Given the description of an element on the screen output the (x, y) to click on. 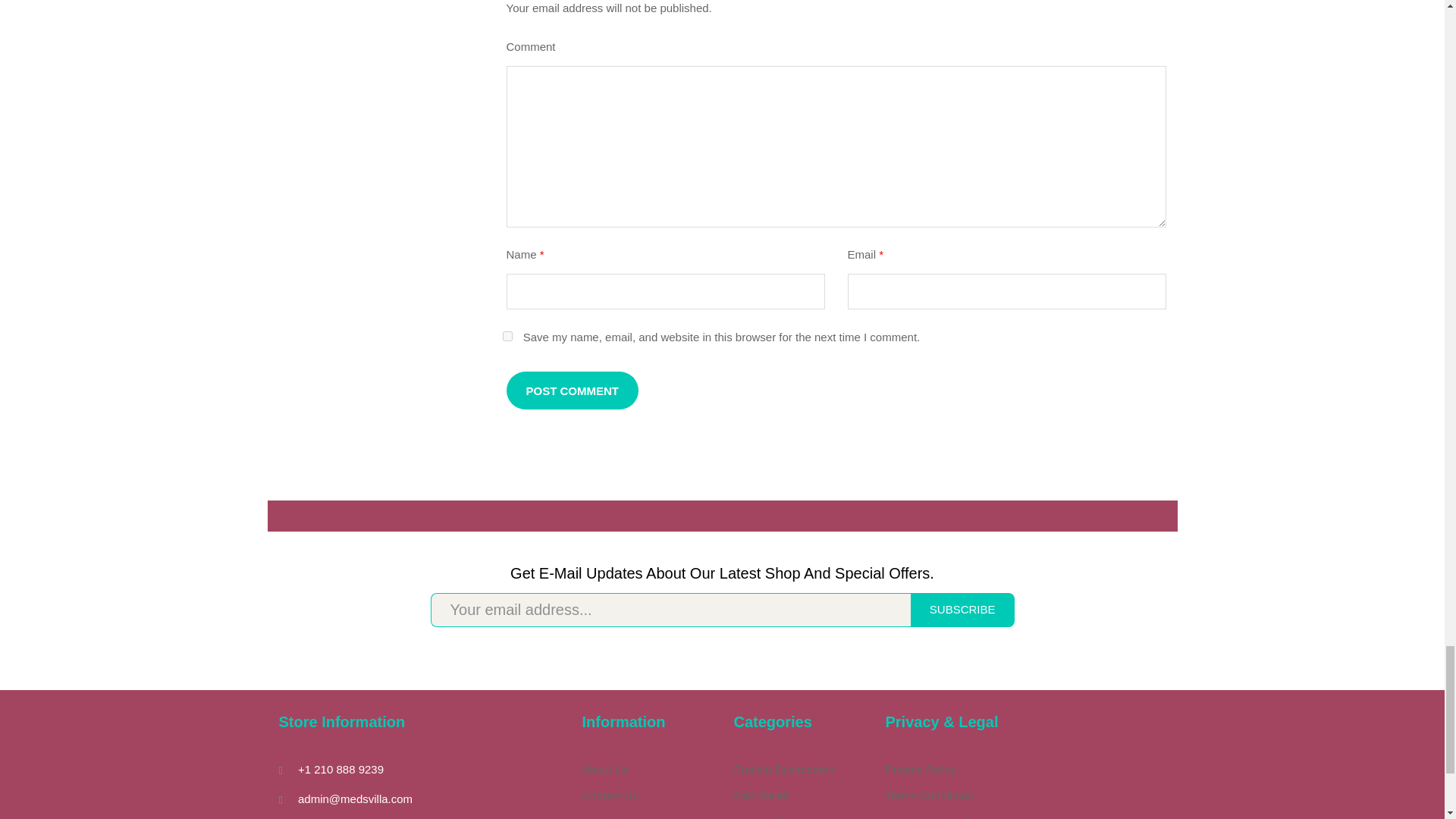
yes (507, 336)
Subscribe (962, 609)
Post Comment (572, 390)
